Given the description of an element on the screen output the (x, y) to click on. 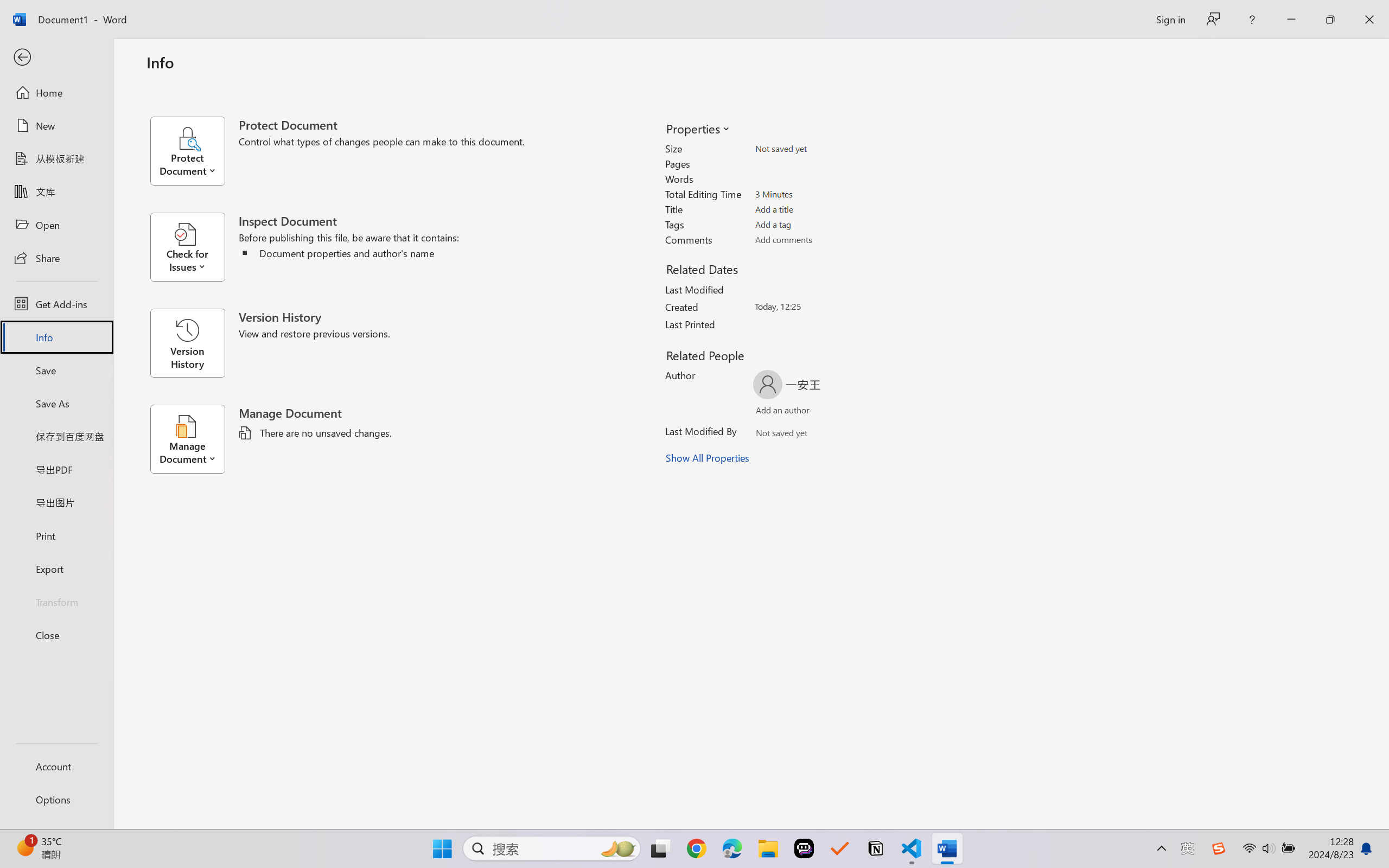
Export (56, 568)
Options (56, 798)
Manage Document (194, 438)
Words (818, 178)
Title (818, 209)
Back (56, 57)
